Given the description of an element on the screen output the (x, y) to click on. 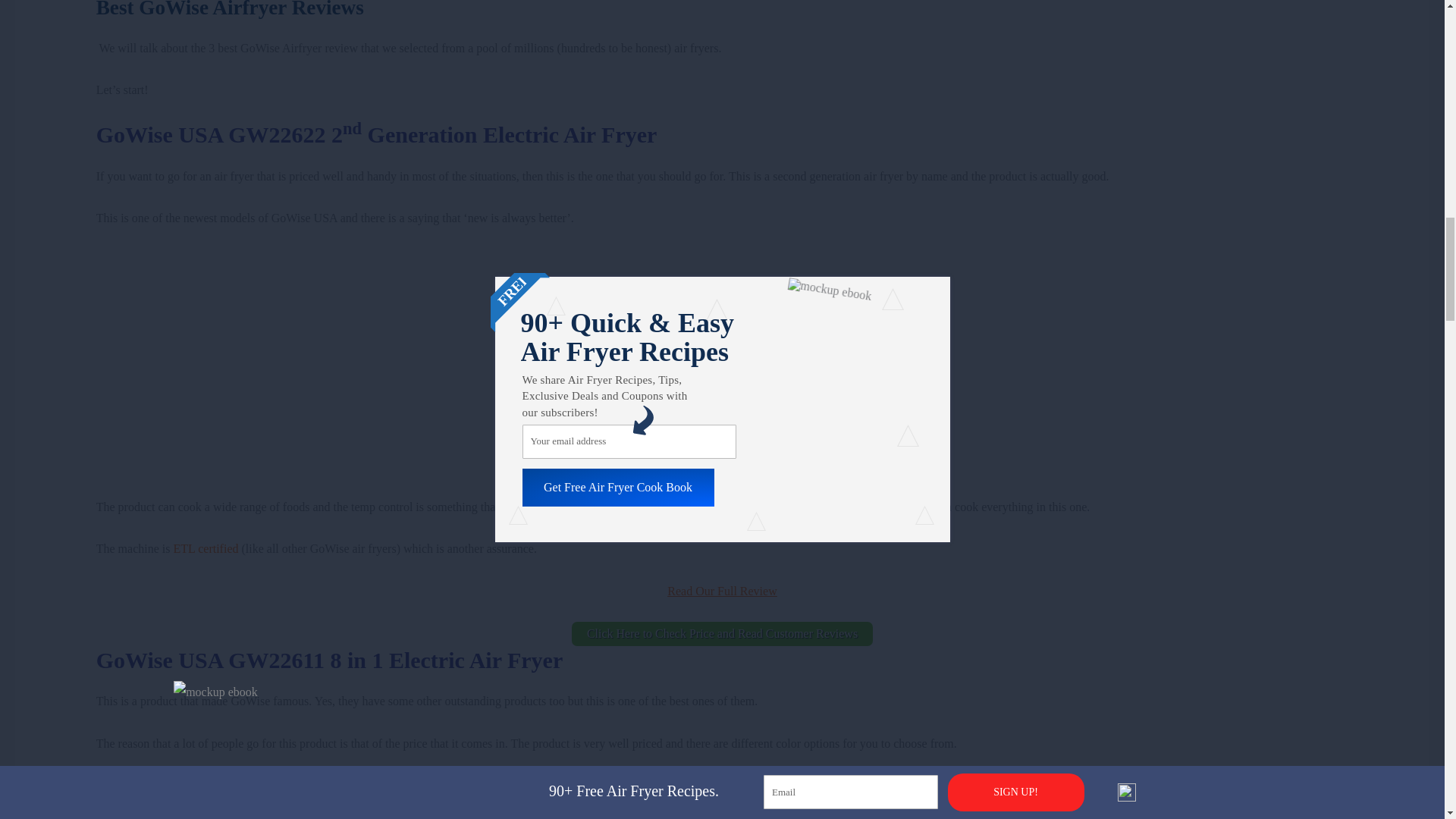
ETL certified (205, 548)
GoWise USA GW22611 8 in 1 Electric Air Fryer (329, 659)
Click Here to Check Price and Read Customer Reviews (722, 633)
GoWise USA GW22622 2nd Generation Electric Air Fryer (377, 134)
Read Our Full Review (721, 590)
